Given the description of an element on the screen output the (x, y) to click on. 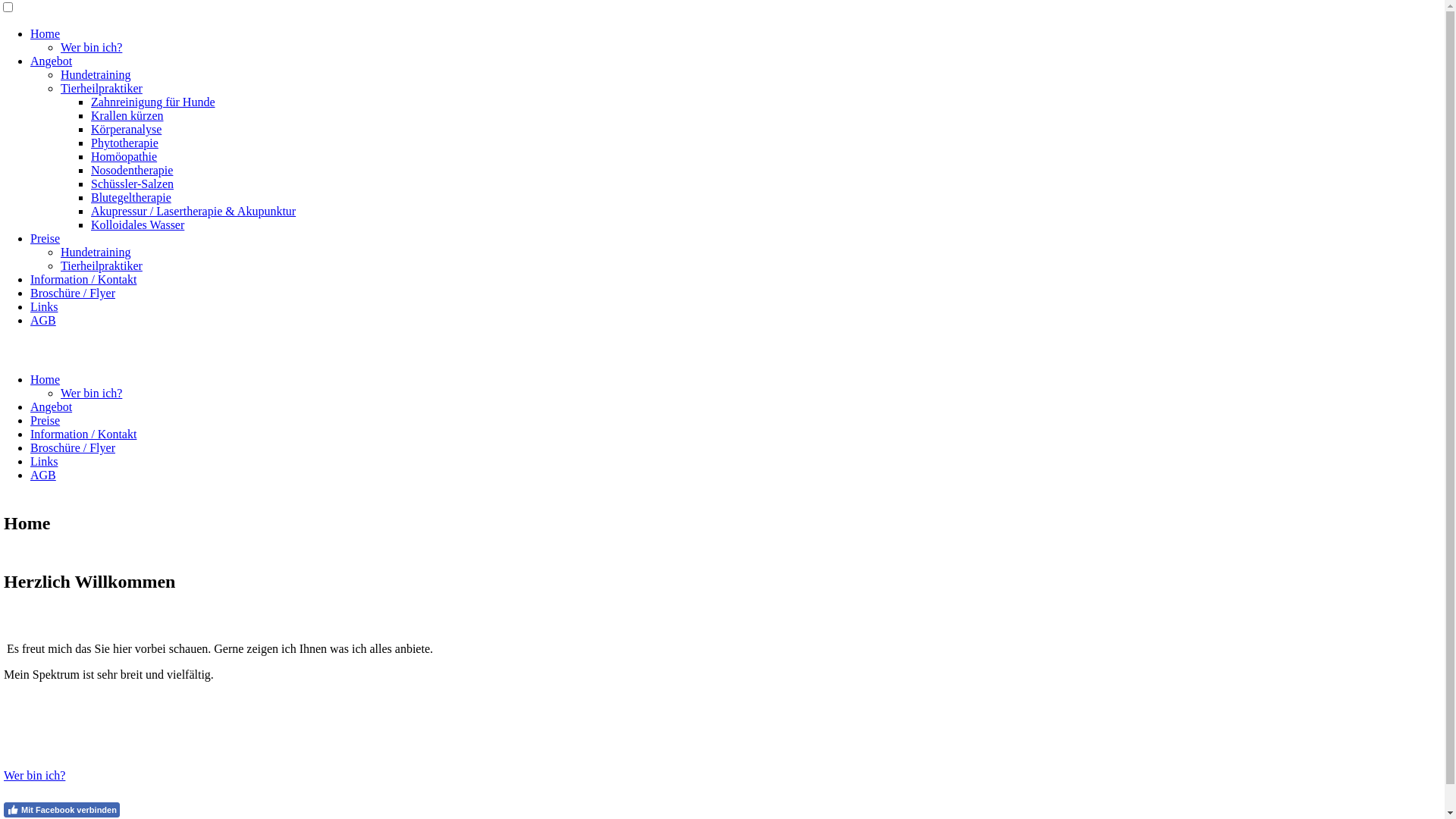
Angebot Element type: text (51, 406)
Wer bin ich? Element type: text (91, 392)
Tierheilpraktiker Element type: text (101, 87)
Blutegeltherapie Element type: text (131, 197)
Mit Facebook verbinden Element type: text (61, 809)
Links Element type: text (43, 461)
Hundetraining Element type: text (95, 74)
Hundetraining Element type: text (95, 251)
Wer bin ich? Element type: text (91, 46)
Kolloidales Wasser Element type: text (137, 224)
Home Element type: text (44, 33)
Preise Element type: text (44, 238)
Phytotherapie Element type: text (124, 142)
AGB Element type: text (43, 319)
Information / Kontakt Element type: text (83, 433)
Preise Element type: text (44, 420)
Information / Kontakt Element type: text (83, 279)
Wer bin ich? Element type: text (34, 774)
Tierheilpraktiker Element type: text (101, 265)
Angebot Element type: text (51, 60)
AGB Element type: text (43, 474)
Nosodentherapie Element type: text (131, 169)
Links Element type: text (43, 306)
Akupressur / Lasertherapie & Akupunktur Element type: text (193, 210)
Home Element type: text (44, 379)
